Given the description of an element on the screen output the (x, y) to click on. 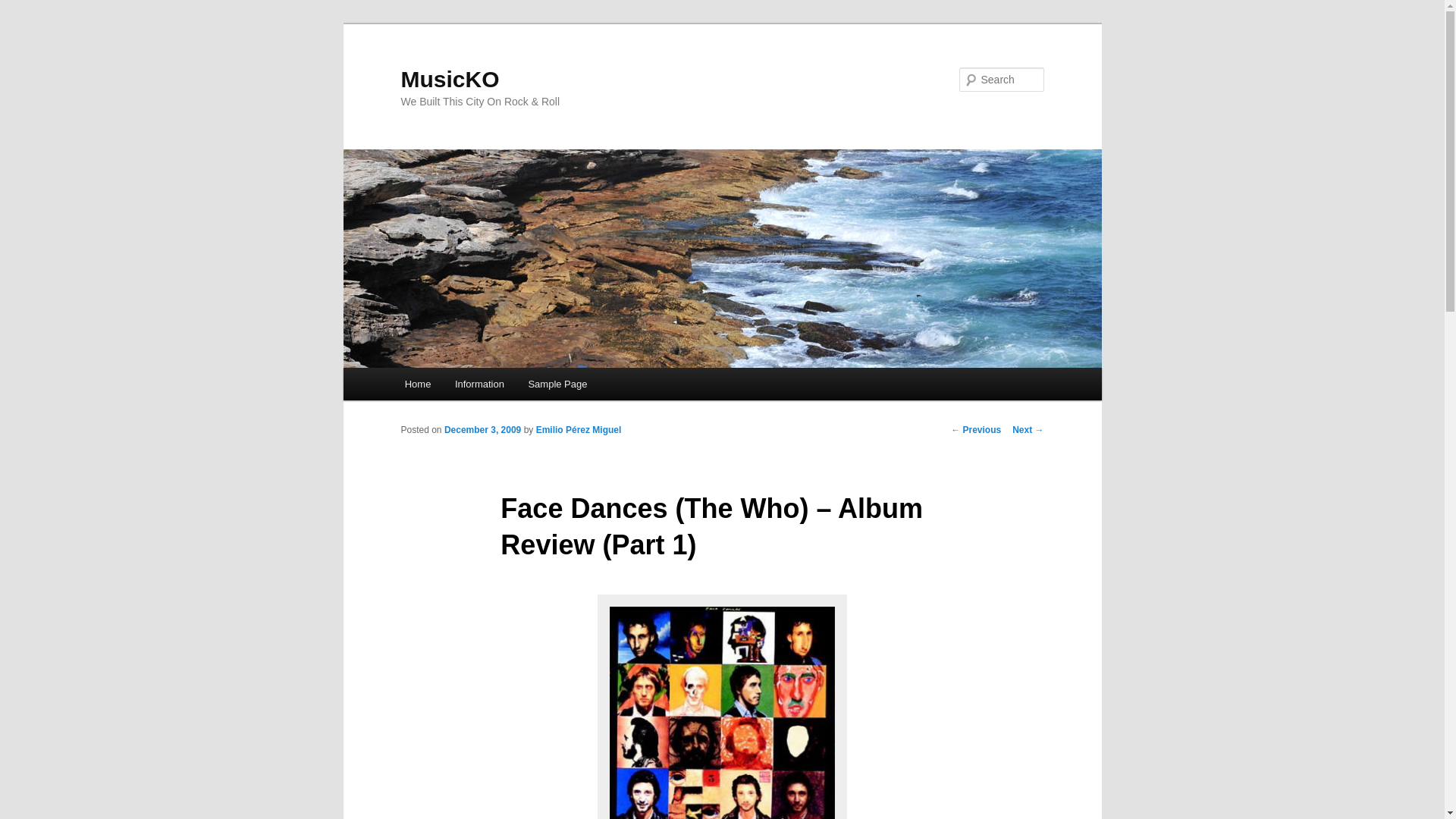
Home (417, 383)
December 3, 2009 (482, 429)
11:51 am (482, 429)
Sample Page (557, 383)
Information (479, 383)
Search (24, 8)
MusicKO (449, 78)
Face Dances (722, 710)
